Given the description of an element on the screen output the (x, y) to click on. 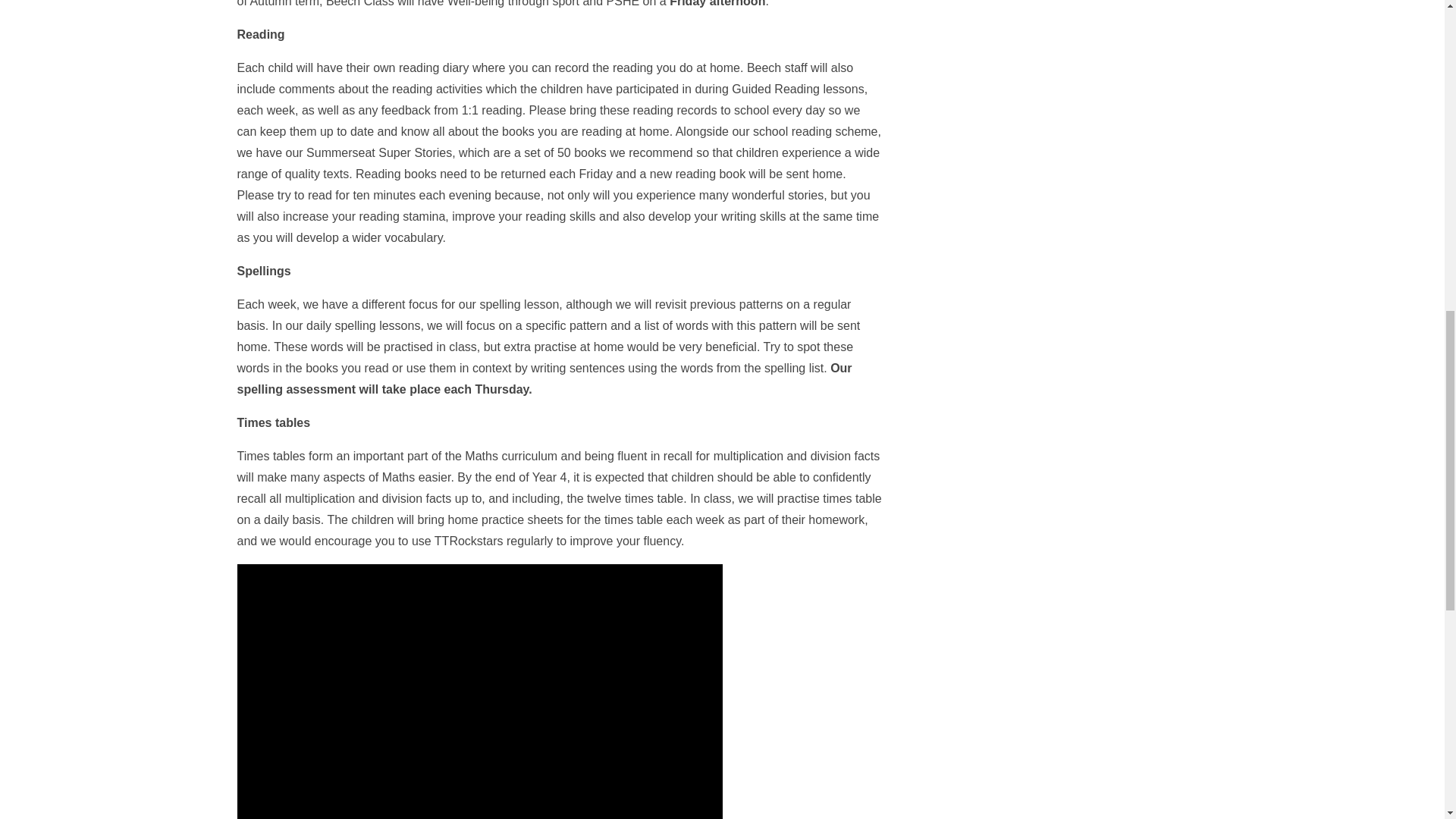
Beech class - Summer 2 (478, 691)
